Given the description of an element on the screen output the (x, y) to click on. 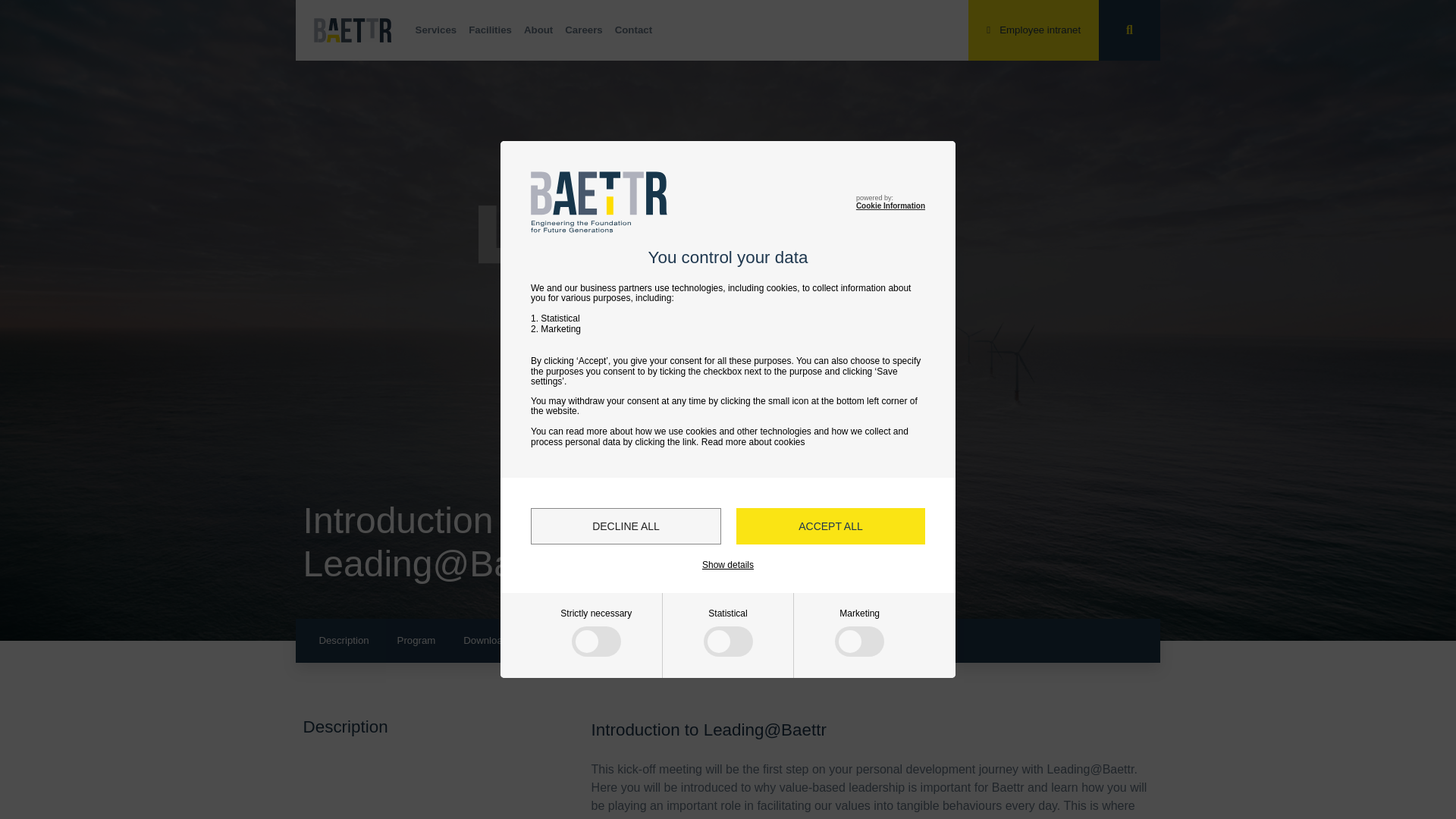
Read more about cookies (753, 441)
ACCEPT ALL (830, 525)
Show details (727, 564)
DECLINE ALL (625, 525)
Cookie Information (890, 205)
